Given the description of an element on the screen output the (x, y) to click on. 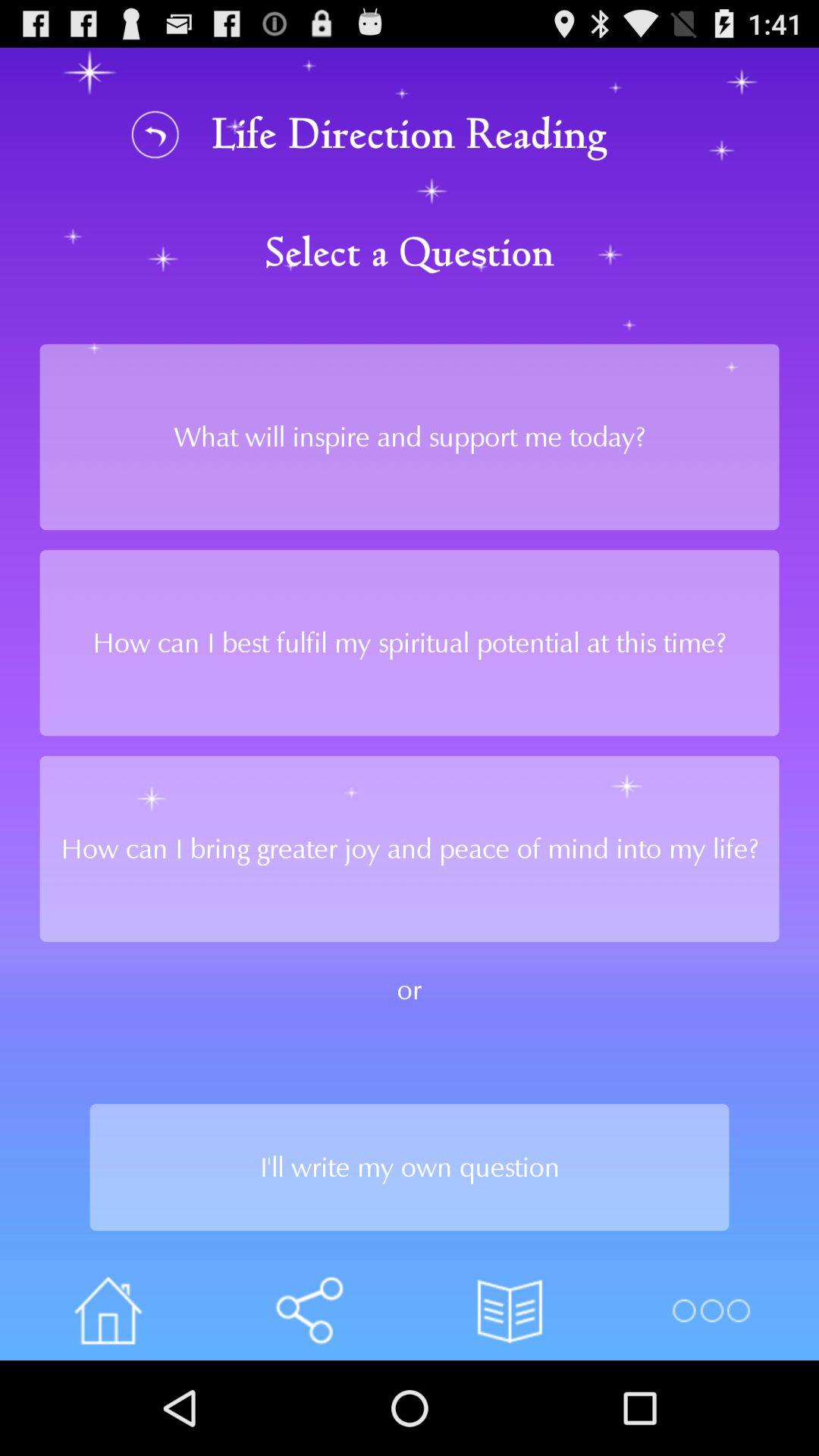
share (308, 1310)
